Given the description of an element on the screen output the (x, y) to click on. 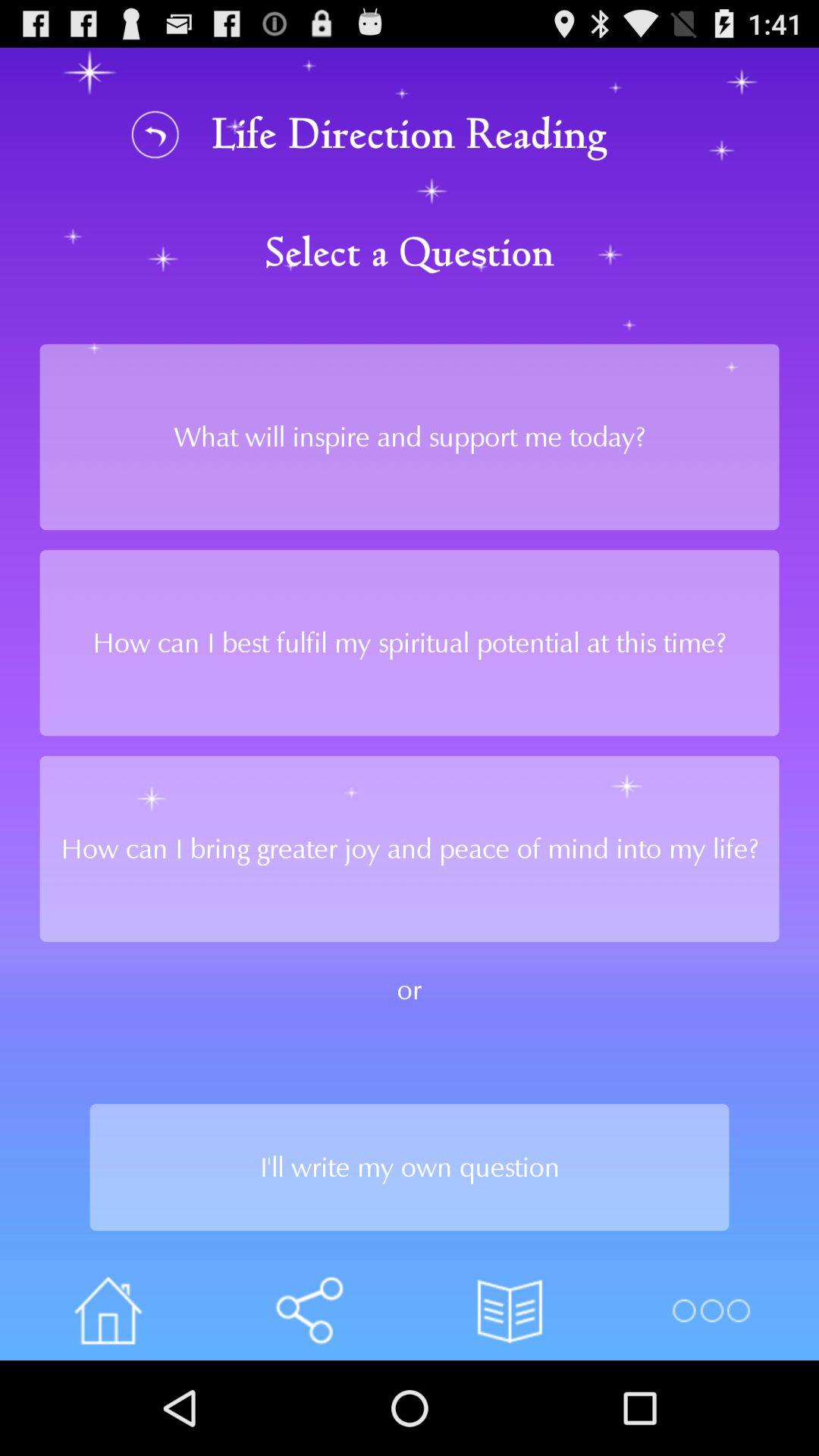
share (308, 1310)
